Given the description of an element on the screen output the (x, y) to click on. 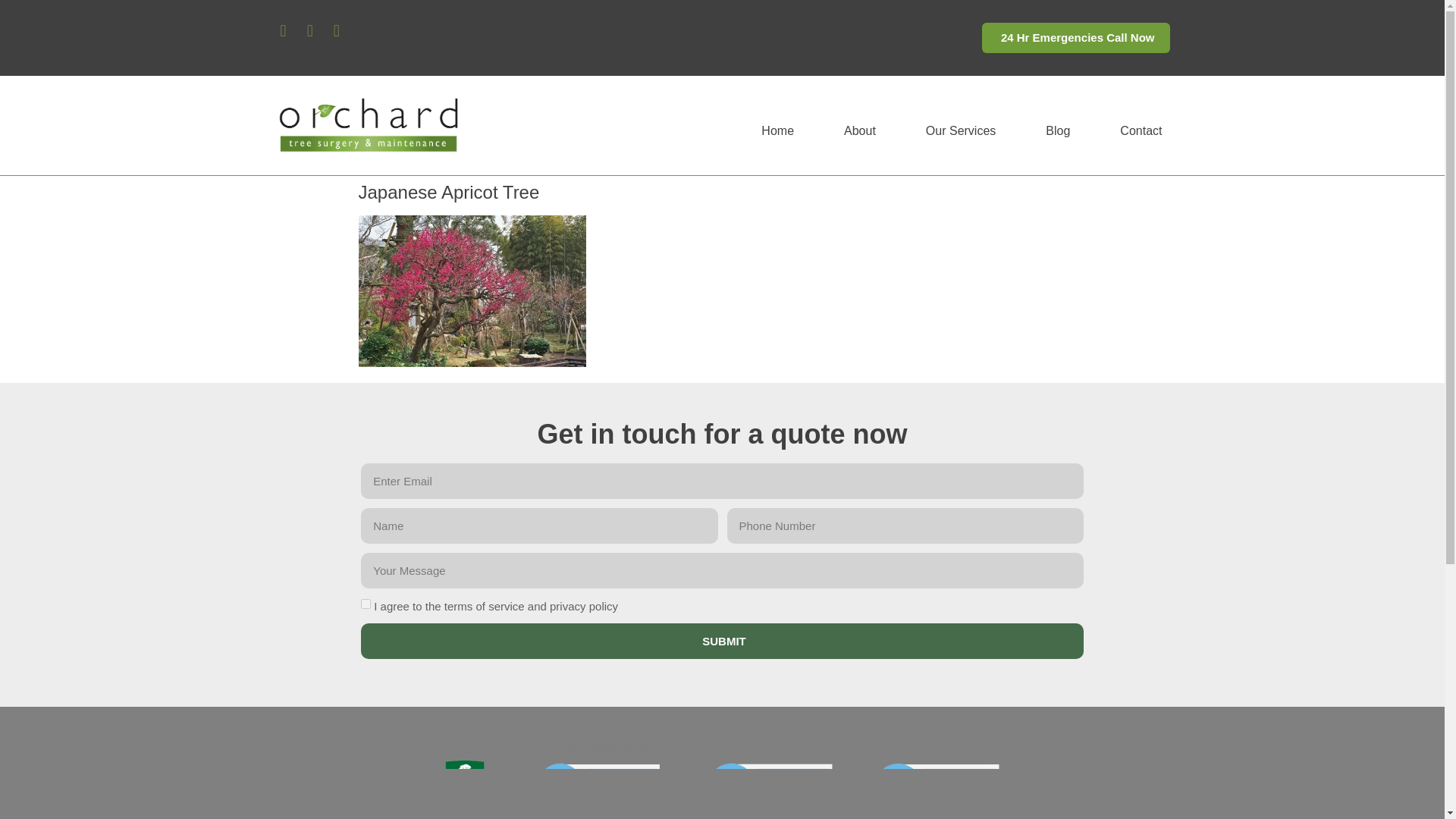
SUBMIT (722, 641)
Home (778, 130)
Contact (1140, 130)
Our Services (960, 130)
I agree to the terms of service and privacy policy  (366, 603)
Blog (1057, 130)
24 Hr Emergencies Call Now (1075, 37)
About (859, 130)
